Given the description of an element on the screen output the (x, y) to click on. 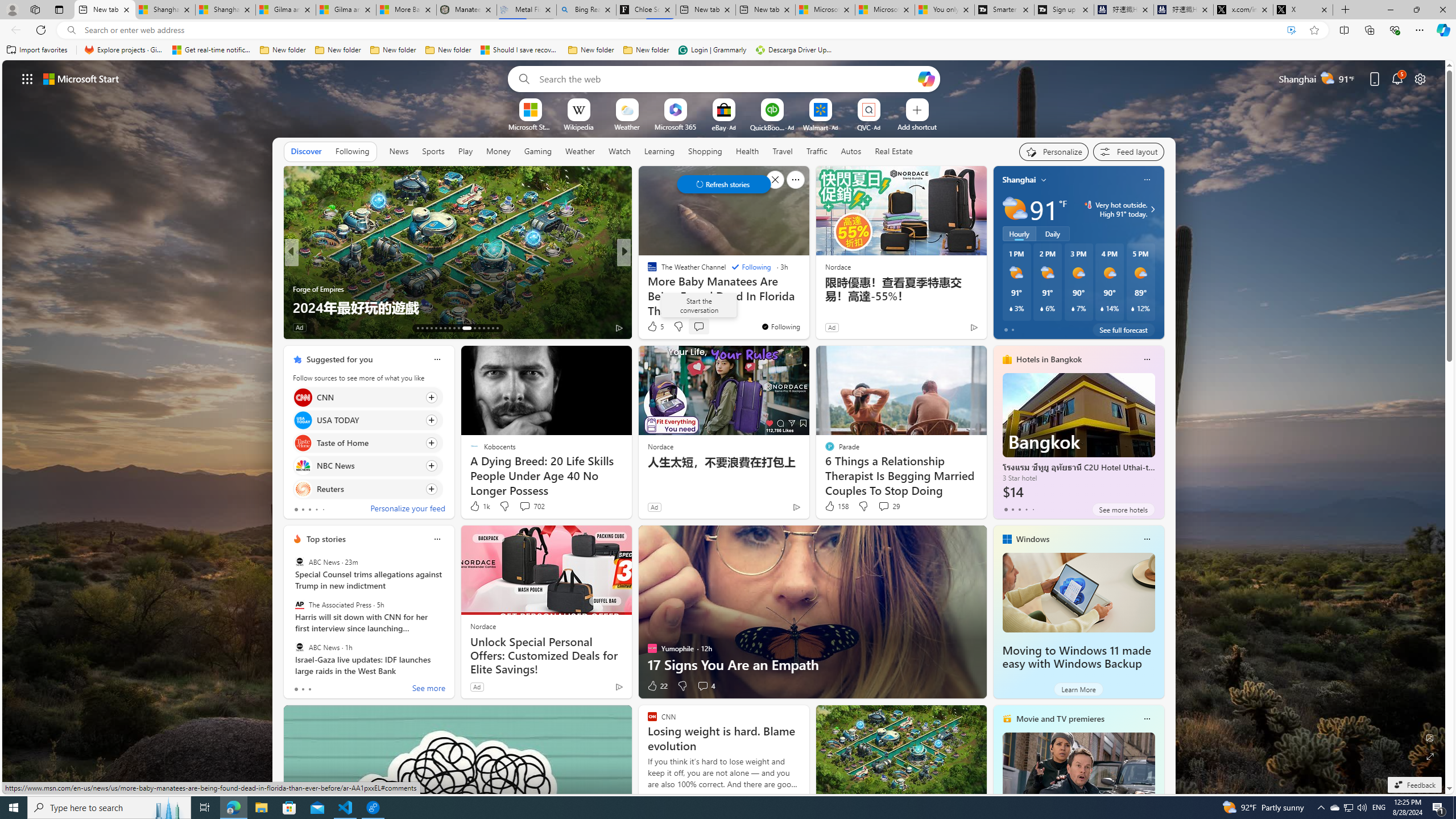
Health (746, 151)
AutomationID: tab-19 (444, 328)
Travel (782, 151)
Manatee Mortality Statistics | FWC (466, 9)
next (1158, 252)
AutomationID: tab-23 (466, 328)
Class: weather-current-precipitation-glyph (1133, 308)
Traffic (816, 151)
AutomationID: tab-17 (435, 328)
View comments 702 Comment (530, 505)
previous (998, 252)
Learning (659, 151)
